Given the description of an element on the screen output the (x, y) to click on. 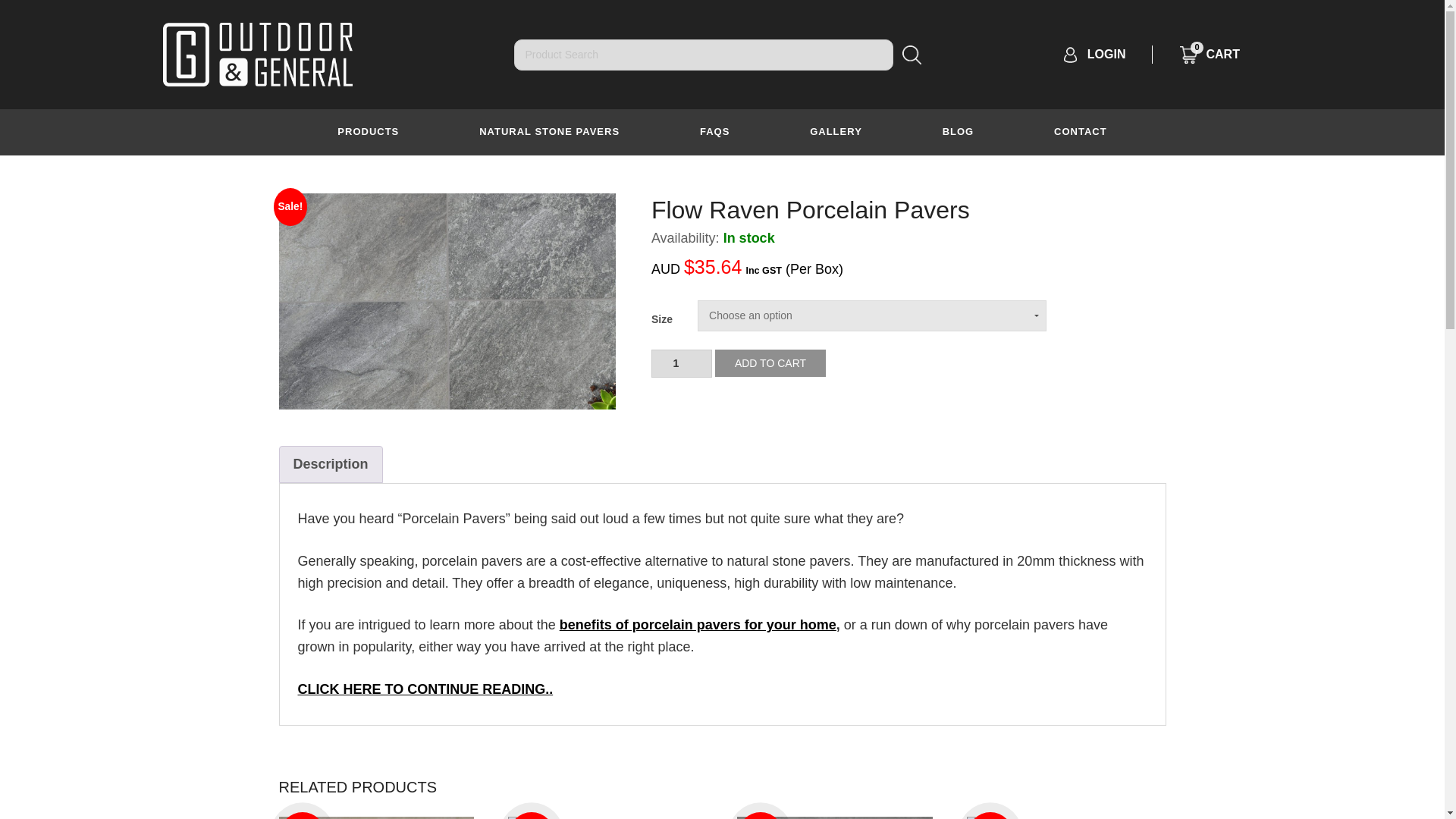
Travtine Moca Porcelain Pavers (376, 817)
Flow Raven Porcelain Pavers (447, 301)
Travtine Beige Porcelain Pavers (834, 817)
1 (680, 363)
